Given the description of an element on the screen output the (x, y) to click on. 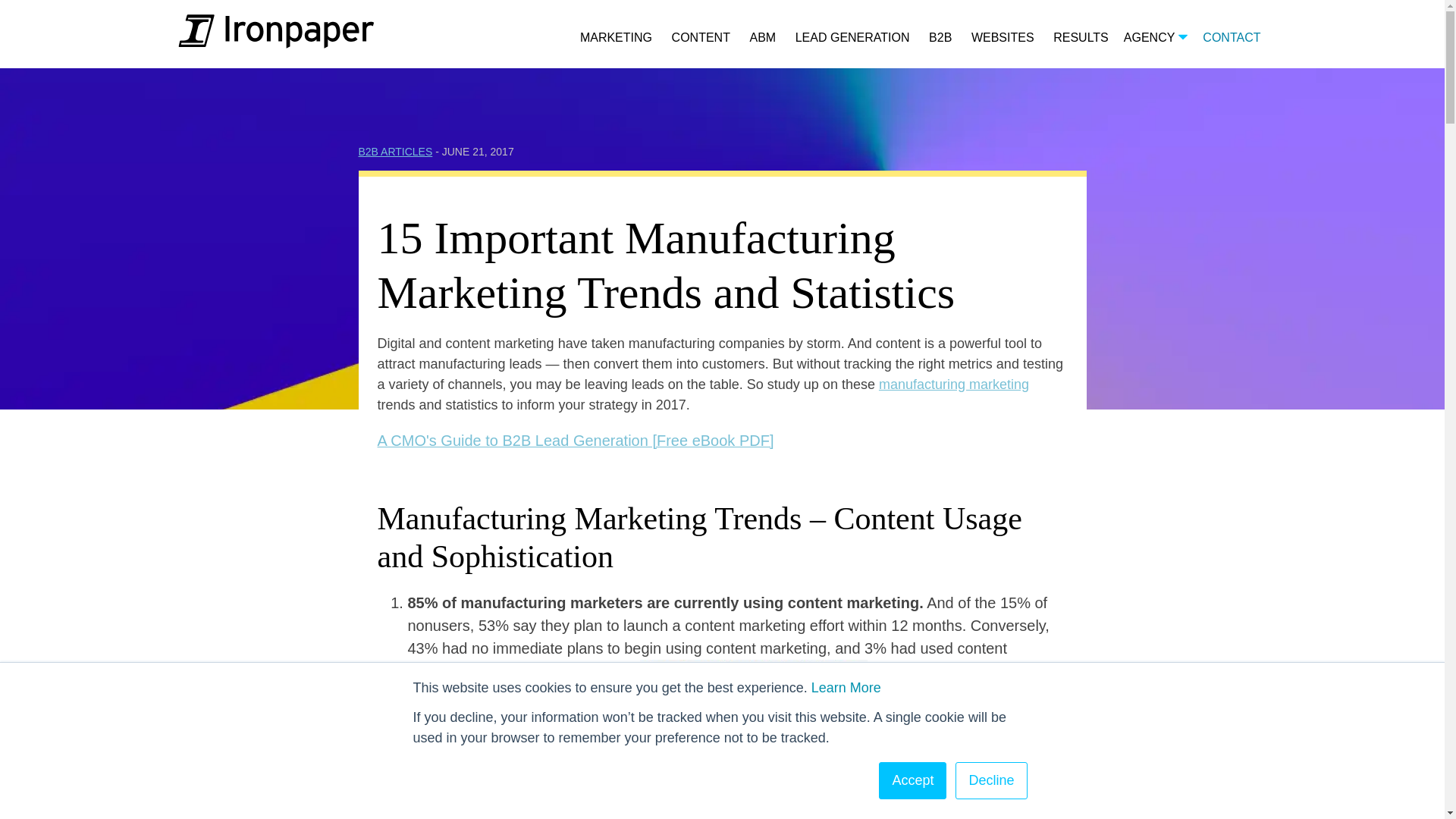
B2B ARTICLES (395, 151)
manufacturing marketing (954, 384)
RESULTS (1080, 37)
B2B (940, 37)
CONTENT (700, 37)
WEBSITES (1002, 37)
Learn More (845, 687)
AGENCY (1156, 37)
Decline (990, 780)
ABM (762, 37)
Accept (912, 780)
CONTACT (1231, 37)
MARKETING (615, 37)
LEAD GENERATION (852, 37)
